Given the description of an element on the screen output the (x, y) to click on. 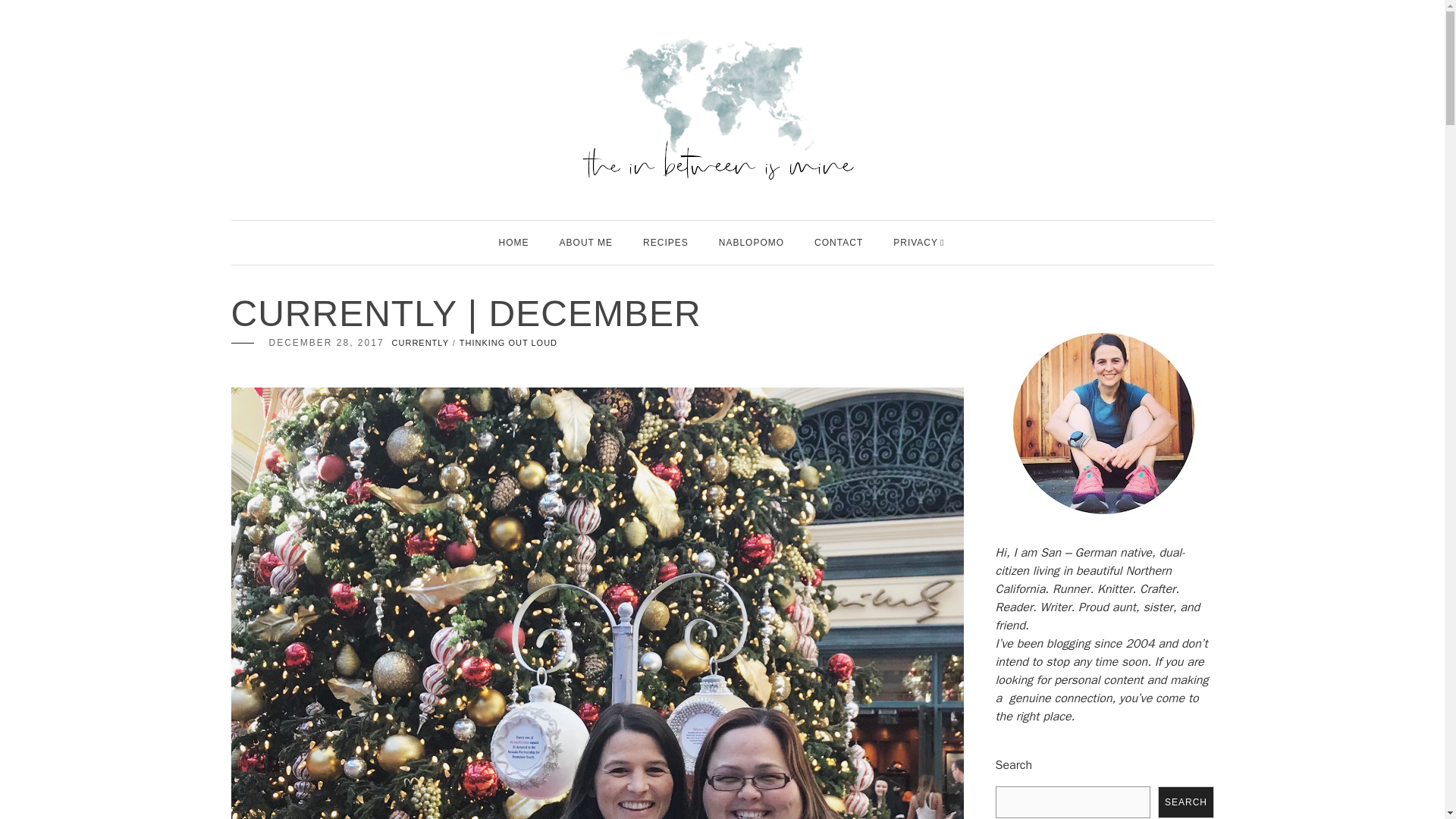
CONTACT (838, 242)
RECIPES (665, 242)
THINKING OUT LOUD (508, 342)
ABOUT ME (585, 242)
CURRENTLY (419, 342)
NABLOPOMO (751, 242)
PRIVACY (915, 242)
